Given the description of an element on the screen output the (x, y) to click on. 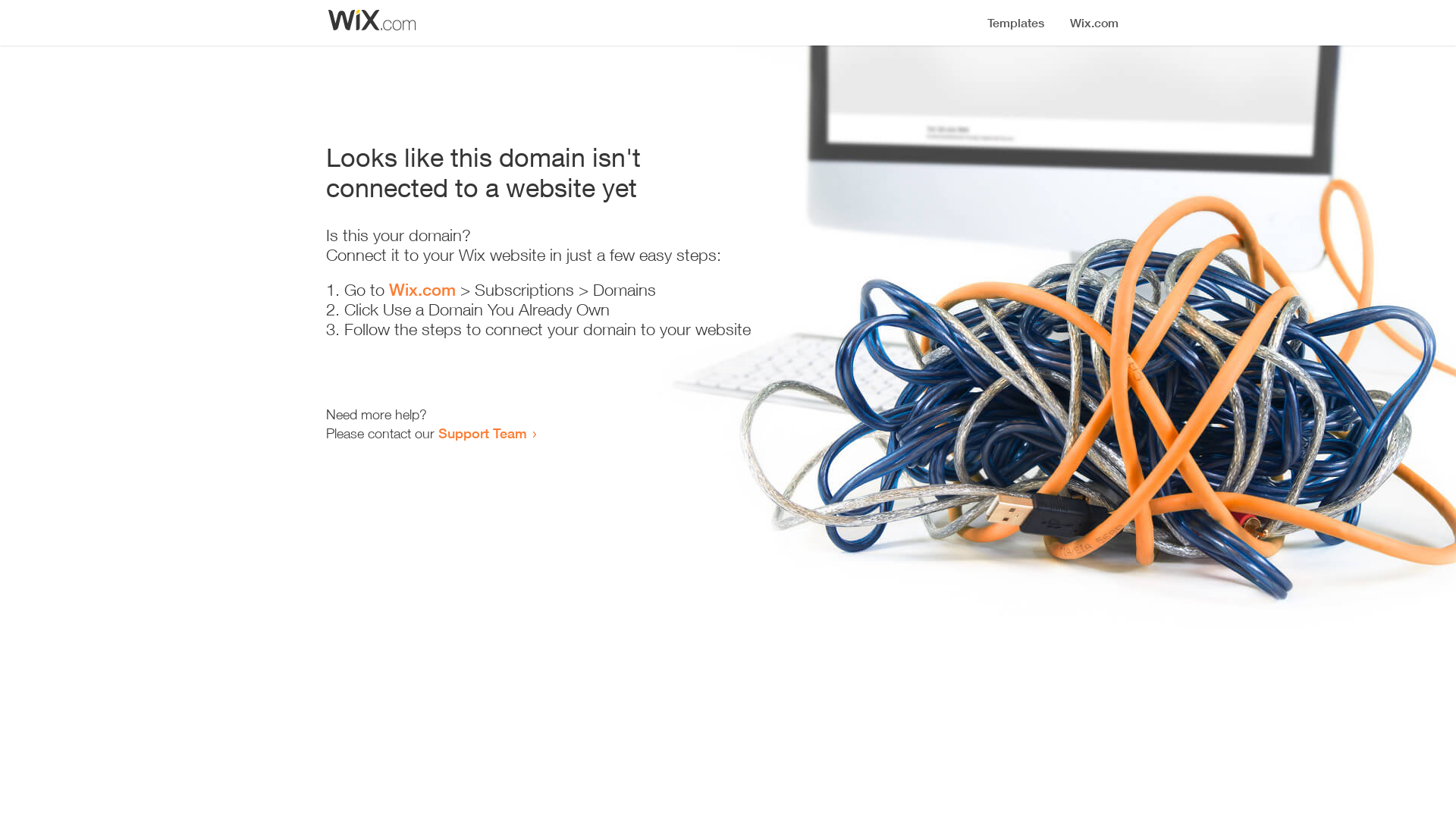
Support Team Element type: text (482, 432)
Wix.com Element type: text (422, 289)
